Given the description of an element on the screen output the (x, y) to click on. 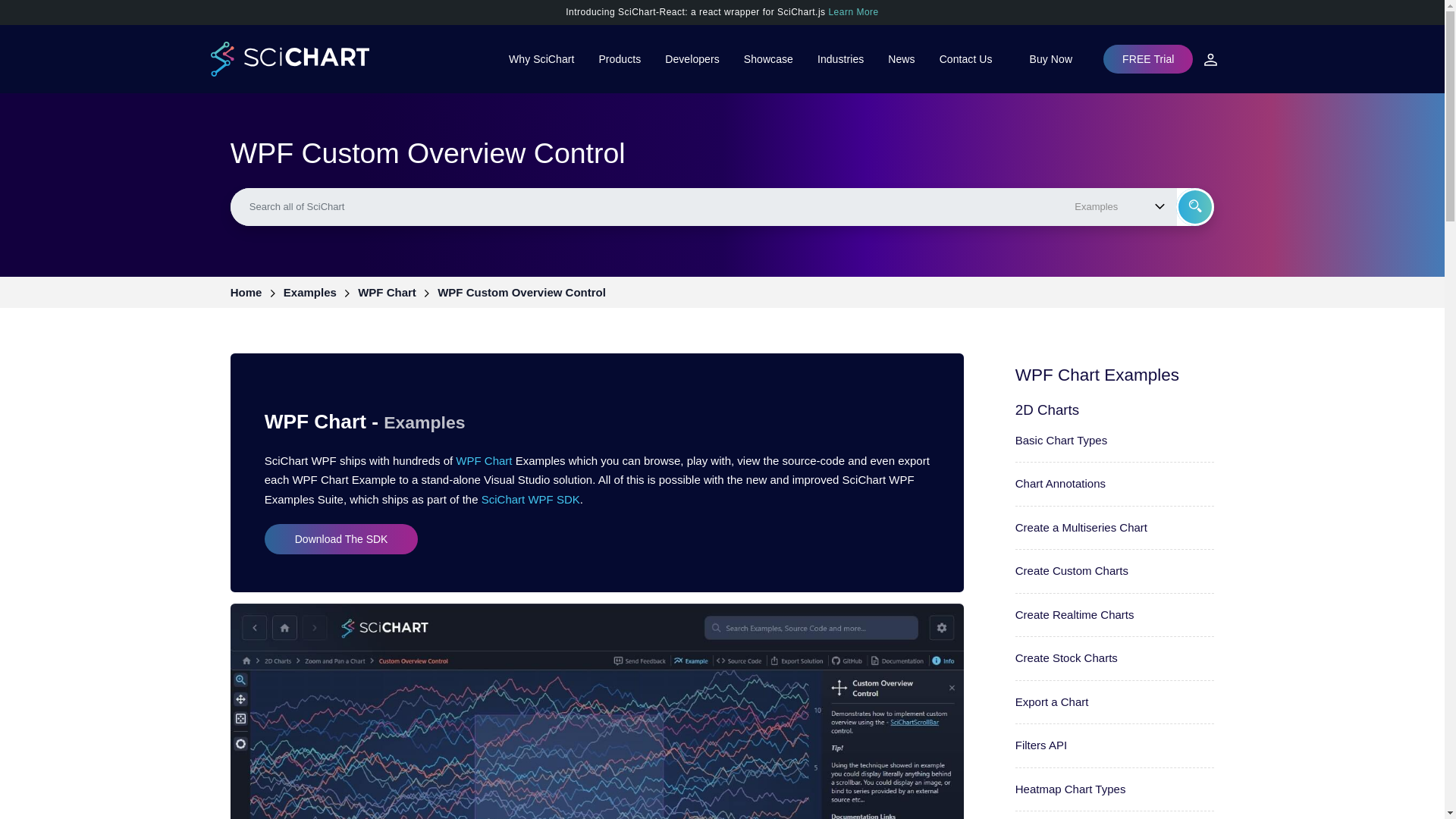
Products (619, 59)
Why SciChart (540, 59)
Build React Charts with SciChart.js (722, 11)
Developers (692, 59)
